Given the description of an element on the screen output the (x, y) to click on. 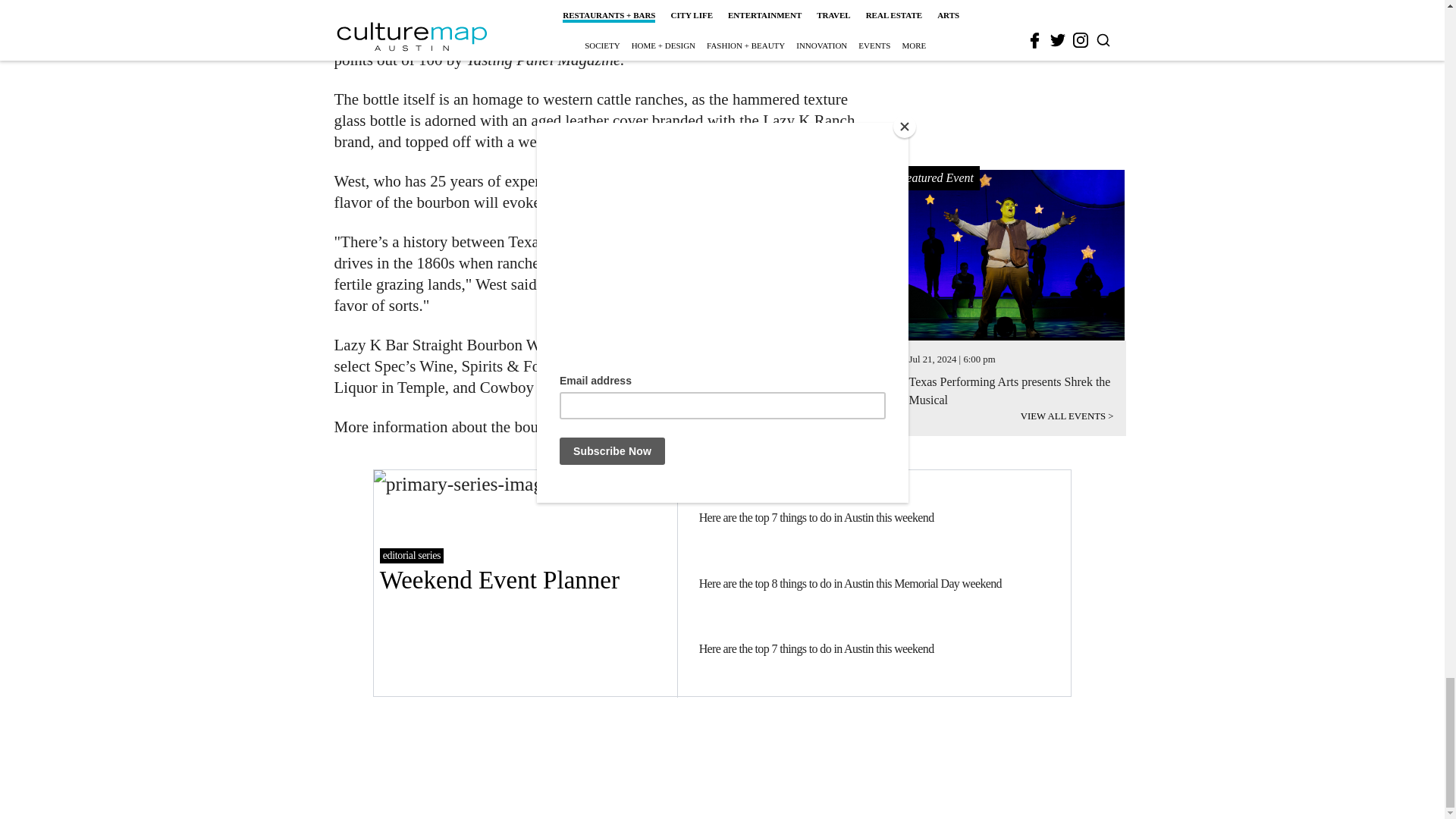
primary-link (525, 583)
